Given the description of an element on the screen output the (x, y) to click on. 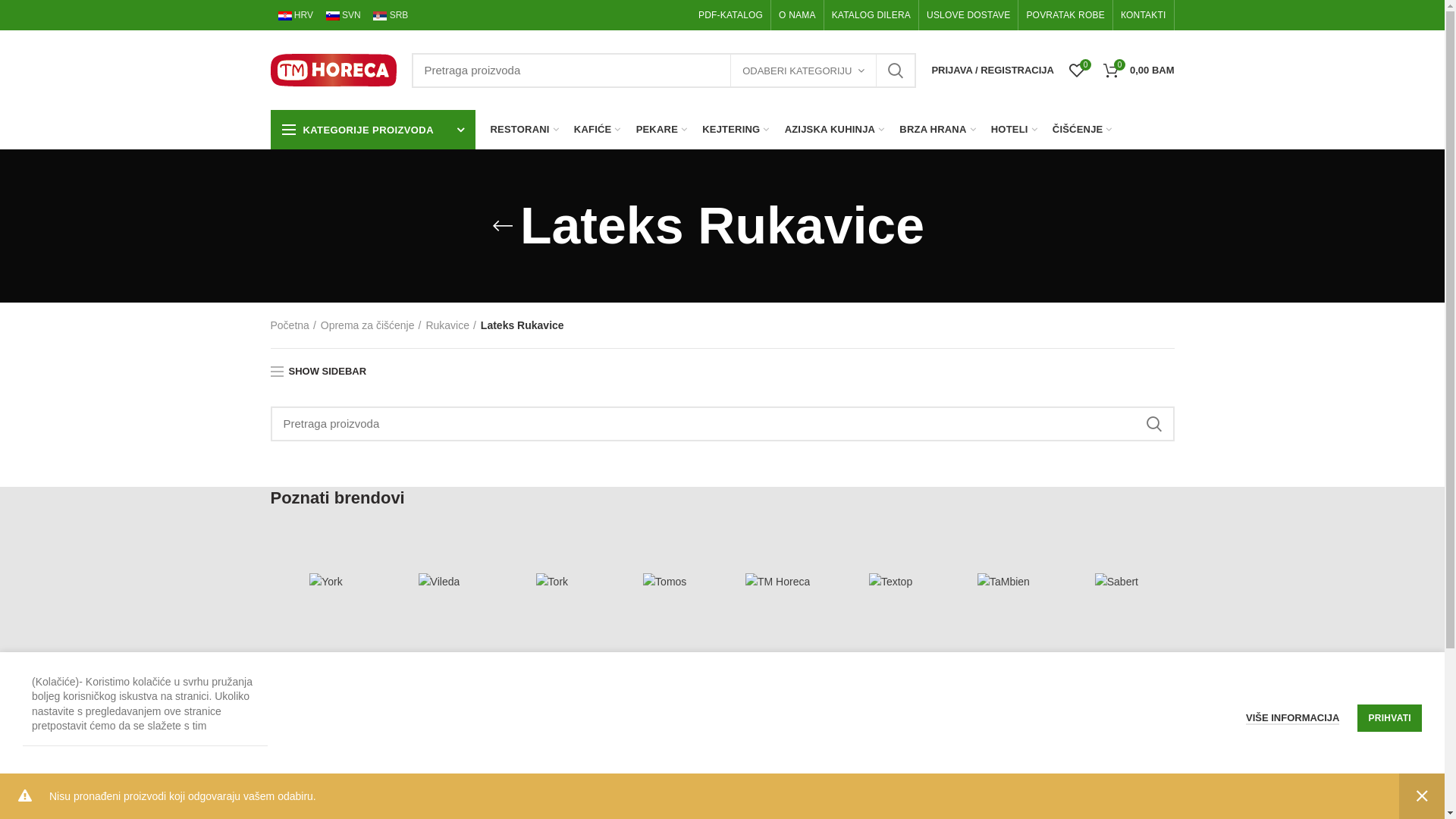
TaMbien Element type: hover (1003, 581)
O nama Element type: text (907, 754)
PDF-KATALOG Element type: text (730, 15)
KATALOG DILERA Element type: text (871, 15)
HOTELI Element type: text (1013, 129)
PEKARE Element type: text (661, 129)
ODABERI KATEGORIJU Element type: text (803, 70)
Textop Element type: hover (890, 581)
KEJTERING Element type: text (735, 129)
PRIHVATI Element type: text (1389, 717)
0
0,00 BAM Element type: text (1138, 69)
York Element type: hover (325, 581)
AZIJSKA KUHINJA Element type: text (834, 129)
Rukavice Element type: text (450, 324)
0 Element type: text (1076, 69)
USLOVE DOSTAVE Element type: text (968, 15)
Prijavi se Element type: text (928, 278)
Tomos Element type: hover (664, 581)
PRIJAVA / REGISTRACIJA Element type: text (992, 69)
Tork Element type: hover (551, 581)
Vileda Element type: hover (439, 581)
O NAMA Element type: text (797, 15)
Sabert Element type: hover (1116, 581)
SEARCH Element type: text (1153, 423)
SRB Element type: text (390, 14)
RESTORANI Element type: text (523, 129)
BRZA HRANA Element type: text (936, 129)
SEARCH Element type: text (895, 70)
HRV Element type: text (294, 14)
SVN Element type: text (343, 14)
Kese i materijal za pakovanje Element type: text (571, 806)
TM Horeca Element type: hover (777, 581)
